Given the description of an element on the screen output the (x, y) to click on. 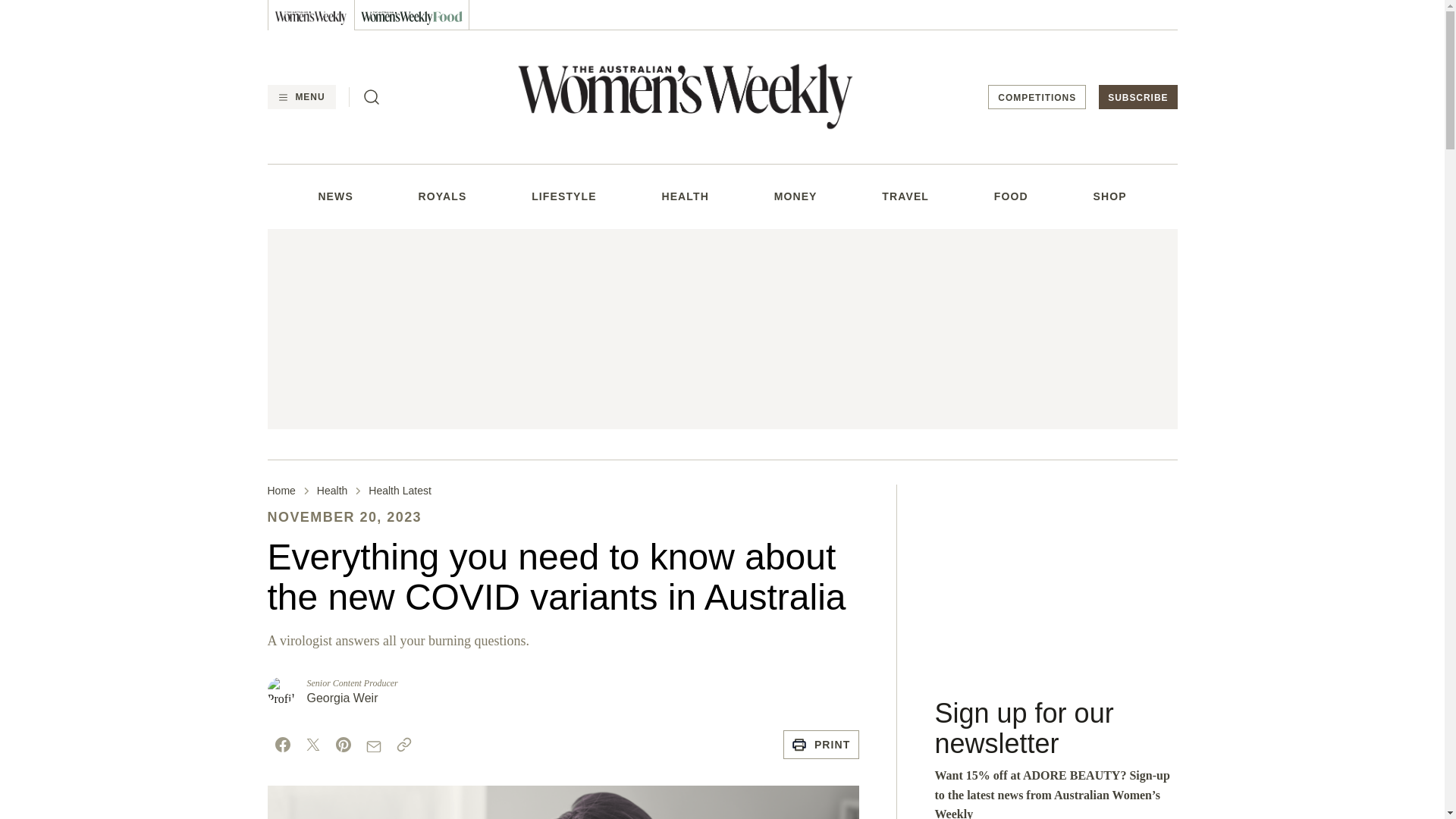
MENU (300, 96)
SHOP (1109, 196)
TRAVEL (905, 196)
LIFESTYLE (563, 196)
HEALTH (684, 196)
FOOD (1010, 196)
NEWS (334, 196)
MONEY (795, 196)
ROYALS (443, 196)
COMPETITIONS (1037, 96)
